Given the description of an element on the screen output the (x, y) to click on. 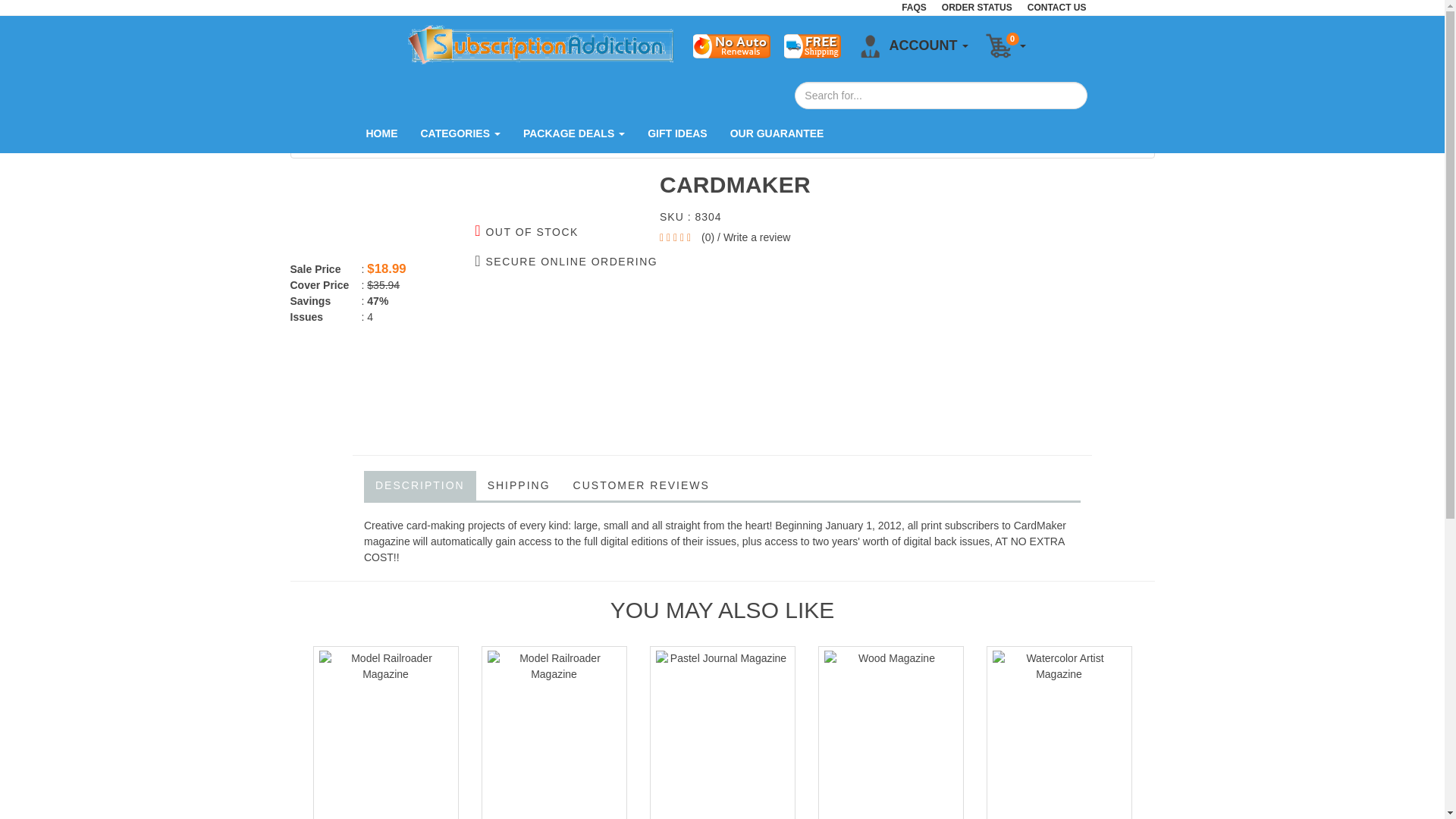
ACCOUNT (911, 46)
ORDER STATUS (984, 7)
HOME (382, 133)
CATEGORIES (460, 133)
FAQS (921, 7)
0 (1003, 46)
CONTACT US (1064, 7)
